Given the description of an element on the screen output the (x, y) to click on. 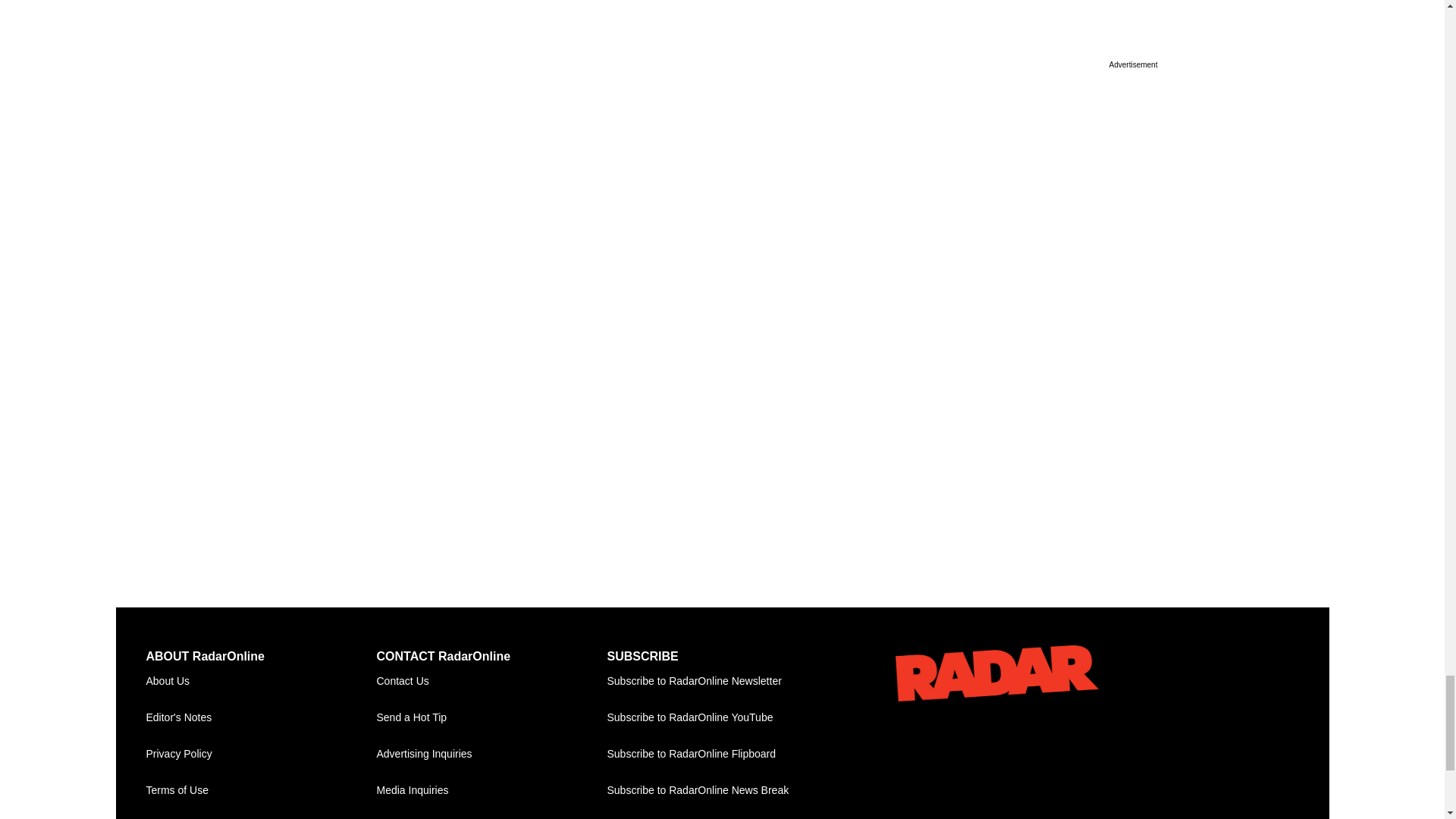
Send a Hot Tip (491, 718)
Subscribe (722, 681)
About Us (260, 681)
Terms of Use (260, 791)
Privacy Policy (260, 754)
Contact Us (491, 681)
DMCA (260, 814)
Editor's Notes (260, 718)
Advertising Inquiries (491, 754)
Media Inquiries (491, 791)
